Given the description of an element on the screen output the (x, y) to click on. 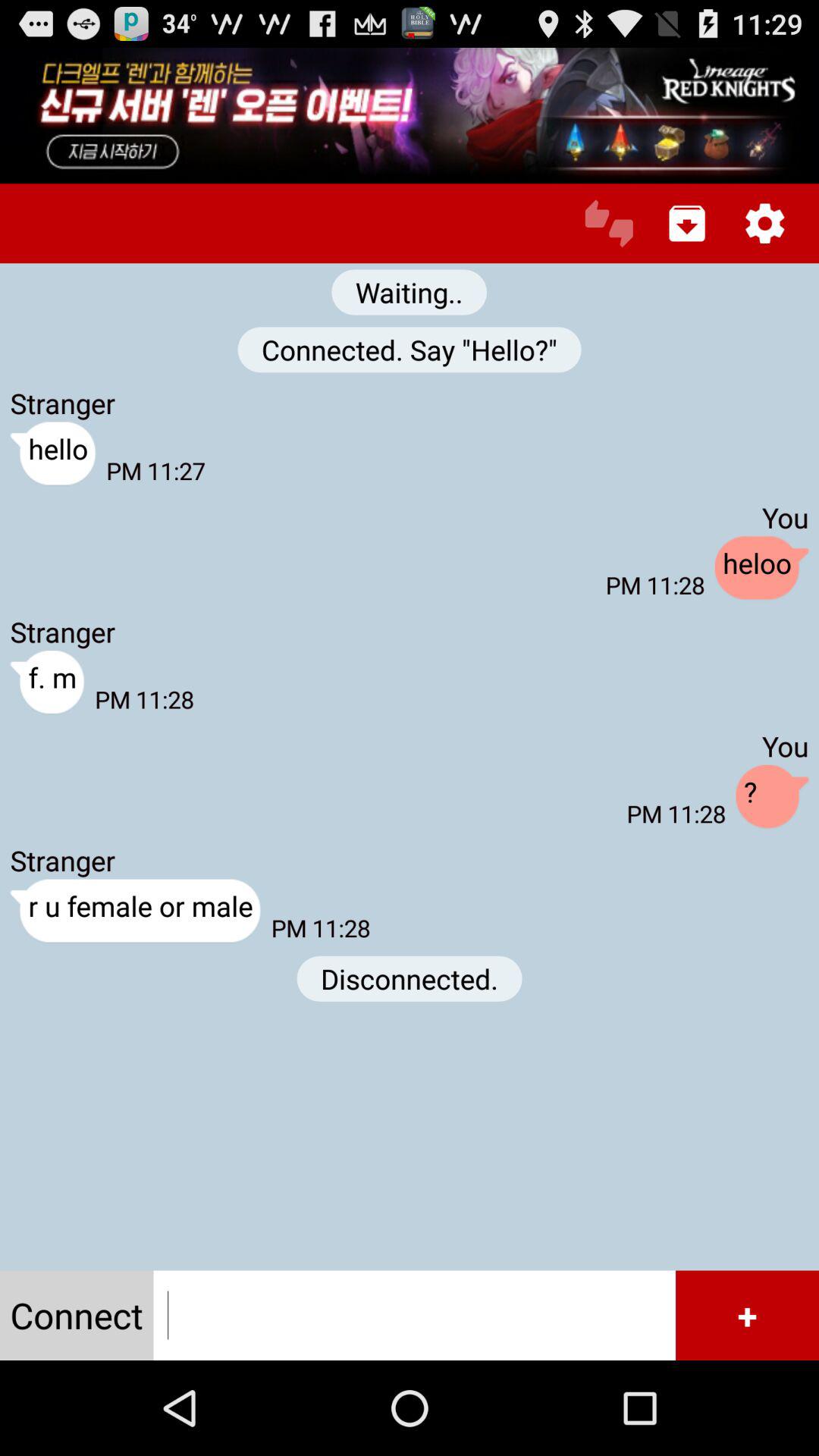
turn on item below r u female icon (76, 1315)
